Given the description of an element on the screen output the (x, y) to click on. 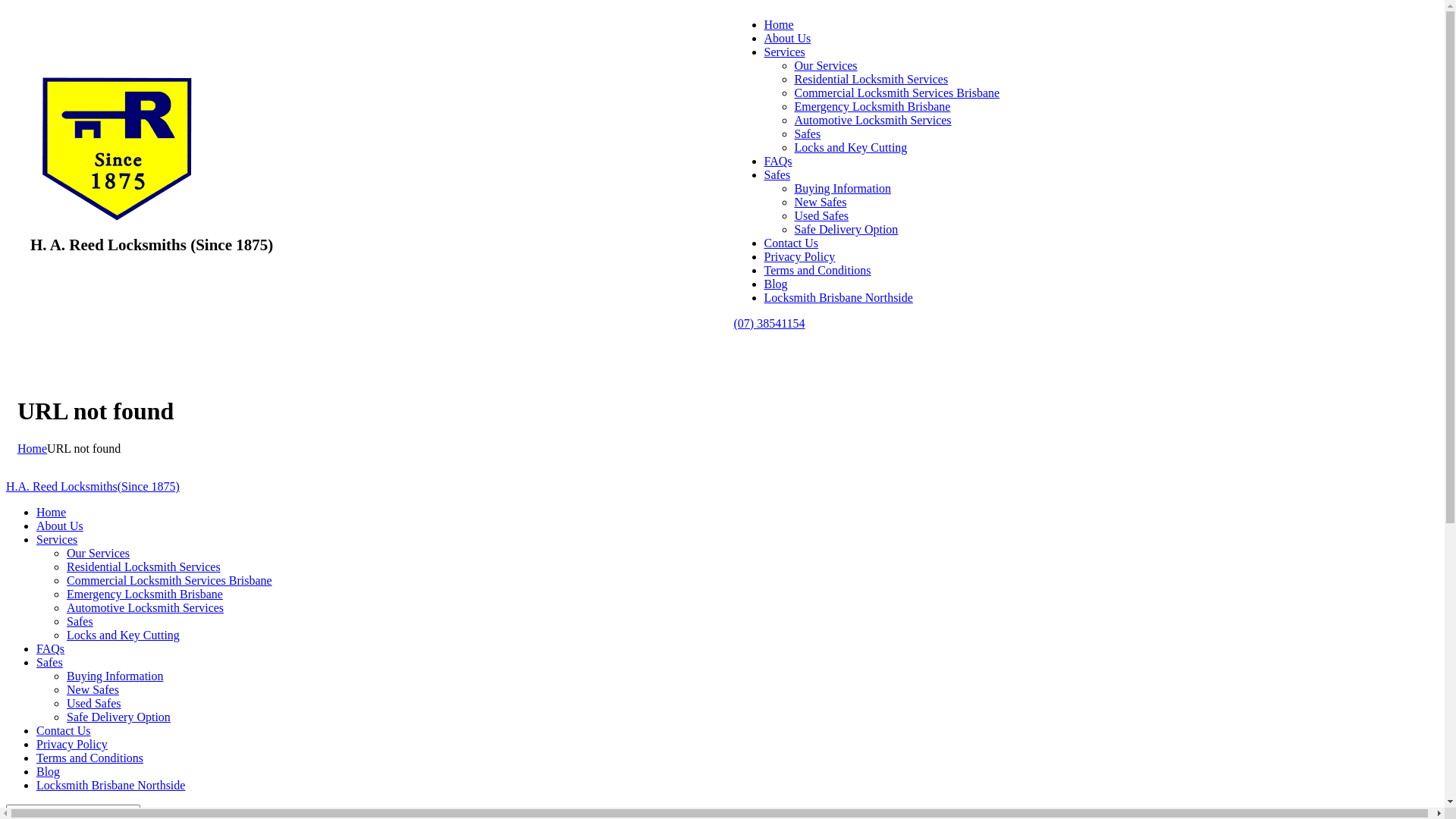
Blog Element type: text (47, 771)
Contact Us Element type: text (791, 242)
Safe Delivery Option Element type: text (846, 228)
Emergency Locksmith Brisbane Element type: text (144, 593)
Buying Information Element type: text (842, 188)
Emergency Locksmith Brisbane Element type: text (872, 106)
Commercial Locksmith Services Brisbane Element type: text (169, 580)
Residential Locksmith Services Element type: text (143, 566)
About Us Element type: text (787, 37)
Commercial Locksmith Services Brisbane Element type: text (897, 92)
Automotive Locksmith Services Element type: text (144, 607)
Services Element type: text (56, 539)
FAQs Element type: text (778, 160)
Locksmith Brisbane Northside Element type: text (838, 297)
Privacy Policy Element type: text (799, 256)
Home Element type: text (32, 448)
Services Element type: text (784, 51)
Blog Element type: text (775, 283)
H.A. Reed Locksmiths(Since 1875) Element type: text (92, 486)
New Safes Element type: text (820, 201)
Privacy Policy Element type: text (71, 743)
Safe Delivery Option Element type: text (118, 716)
FAQs Element type: text (50, 648)
New Safes Element type: text (92, 689)
Our Services Element type: text (97, 552)
Buying Information Element type: text (114, 675)
Safes Element type: text (79, 621)
Safes Element type: text (807, 133)
Home Element type: text (50, 511)
(07) 38541154 Element type: text (769, 322)
Our Services Element type: text (825, 65)
Residential Locksmith Services Element type: text (871, 78)
Automotive Locksmith Services Element type: text (872, 119)
Terms and Conditions Element type: text (89, 757)
Locksmith Brisbane Northside Element type: text (110, 784)
Safes Element type: text (777, 174)
Terms and Conditions Element type: text (817, 269)
Locks and Key Cutting Element type: text (850, 147)
Used Safes Element type: text (821, 215)
Safes Element type: text (49, 661)
Home Element type: text (778, 24)
About Us Element type: text (59, 525)
Contact Us Element type: text (63, 730)
Used Safes Element type: text (93, 702)
Locks and Key Cutting Element type: text (122, 634)
